Given the description of an element on the screen output the (x, y) to click on. 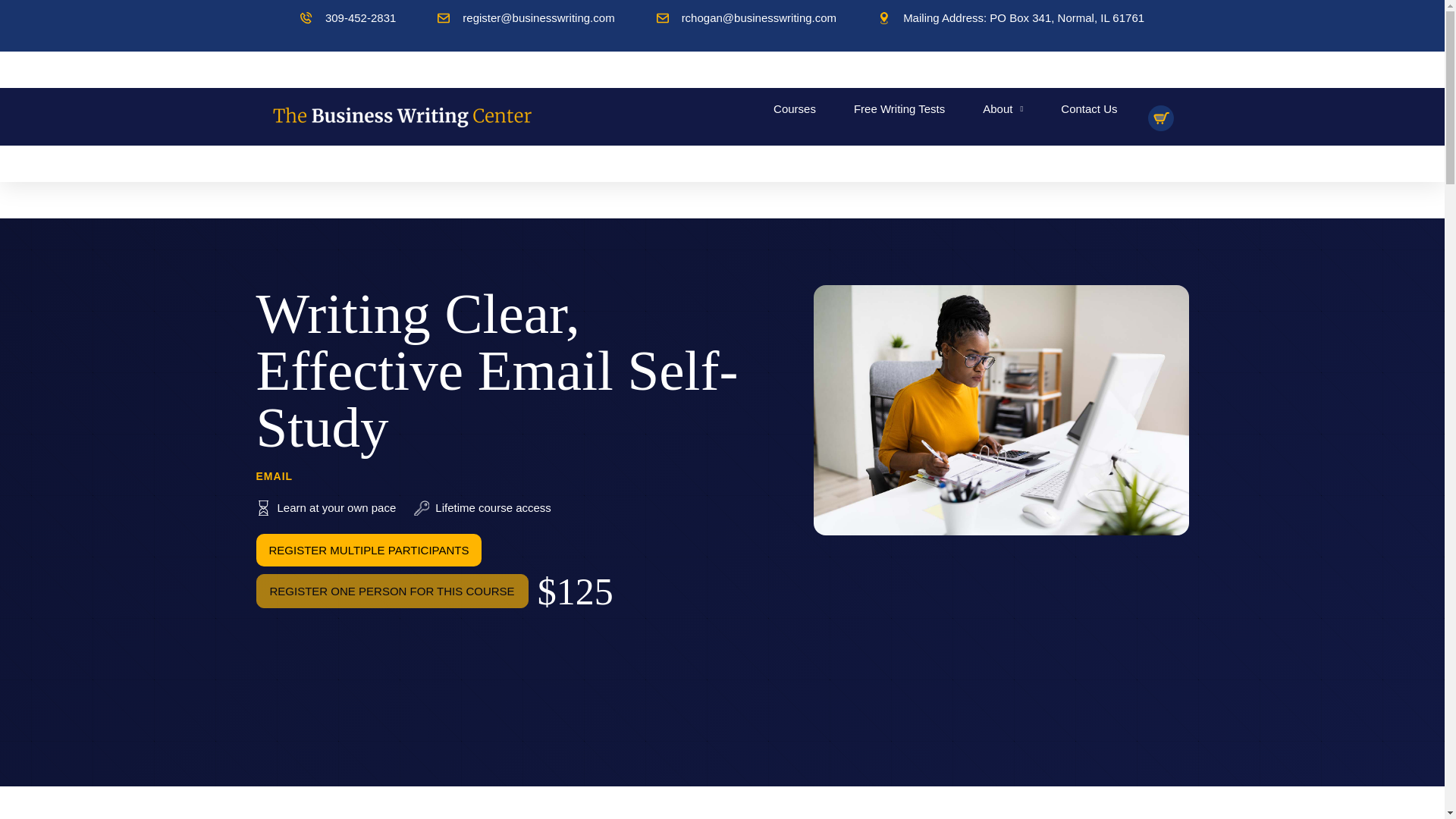
PayPal Message 1 (523, 626)
Contact Us (1088, 109)
About (1002, 109)
REGISTER ONE PERSON FOR THIS COURSE (392, 591)
Free Writing Tests (898, 109)
PayPal (389, 666)
Courses (794, 109)
REGISTER MULTIPLE PARTICIPANTS (368, 549)
EMAIL (275, 476)
309-452-2831 (347, 18)
